Given the description of an element on the screen output the (x, y) to click on. 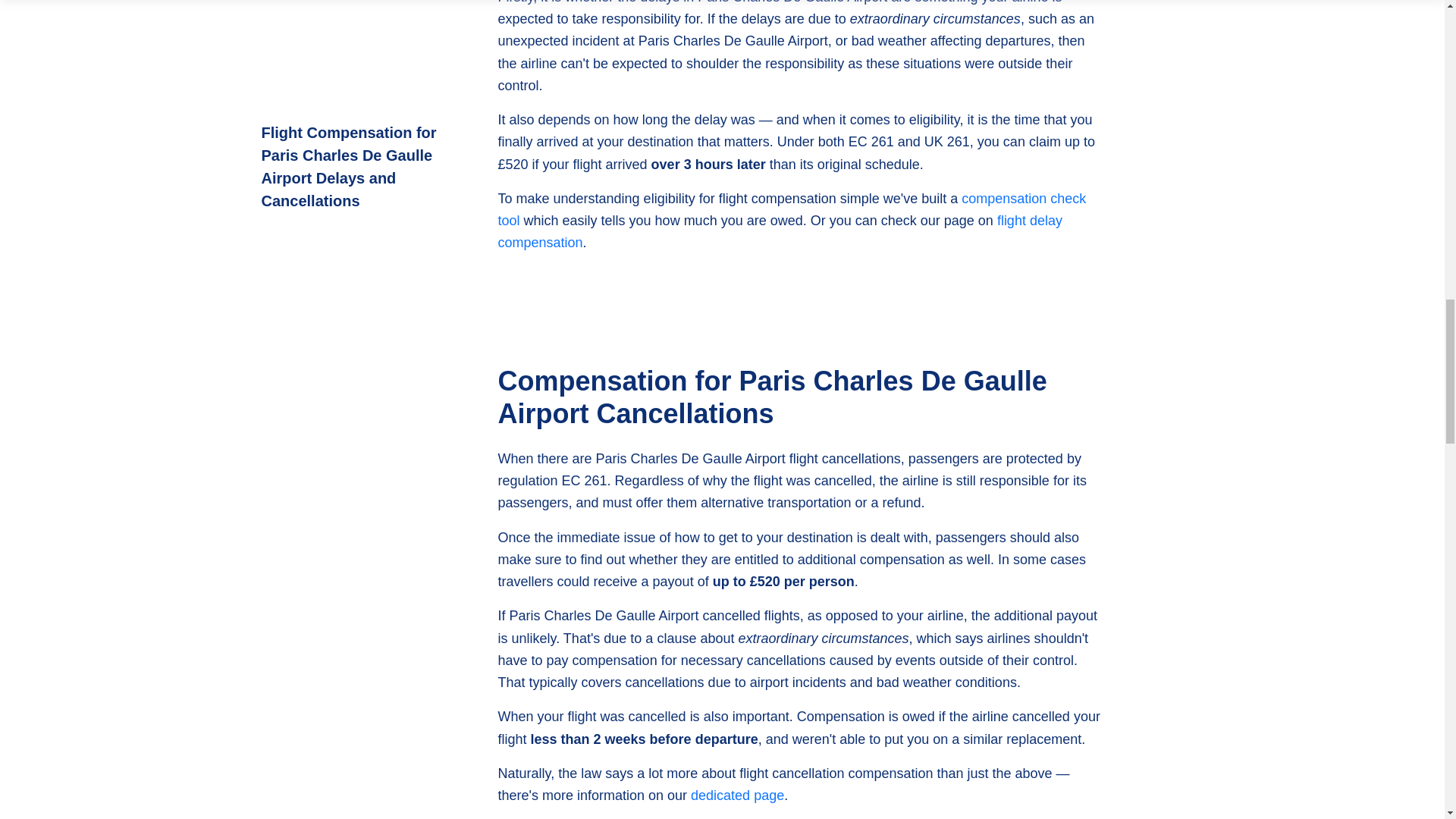
compensation check tool (791, 209)
flight delay compensation (779, 231)
dedicated page (737, 795)
